Given the description of an element on the screen output the (x, y) to click on. 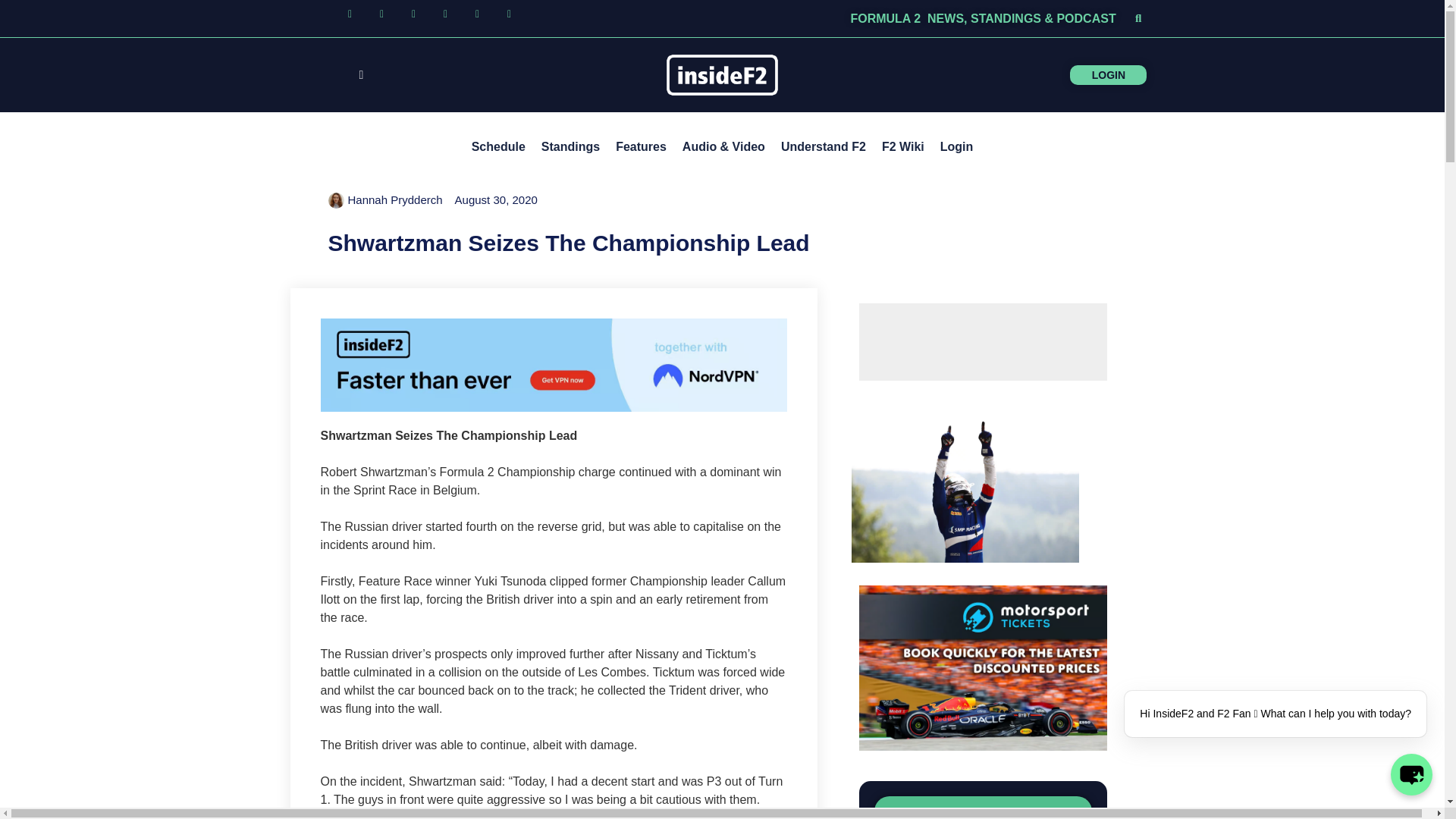
Hannah Prydderch (384, 200)
Advertisement (982, 341)
Understand F2 (823, 146)
F2 Wiki (903, 146)
LOGIN (1133, 74)
Schedule (498, 146)
August 30, 2020 (495, 200)
Features (641, 146)
Login (957, 146)
Standings (570, 146)
